Given the description of an element on the screen output the (x, y) to click on. 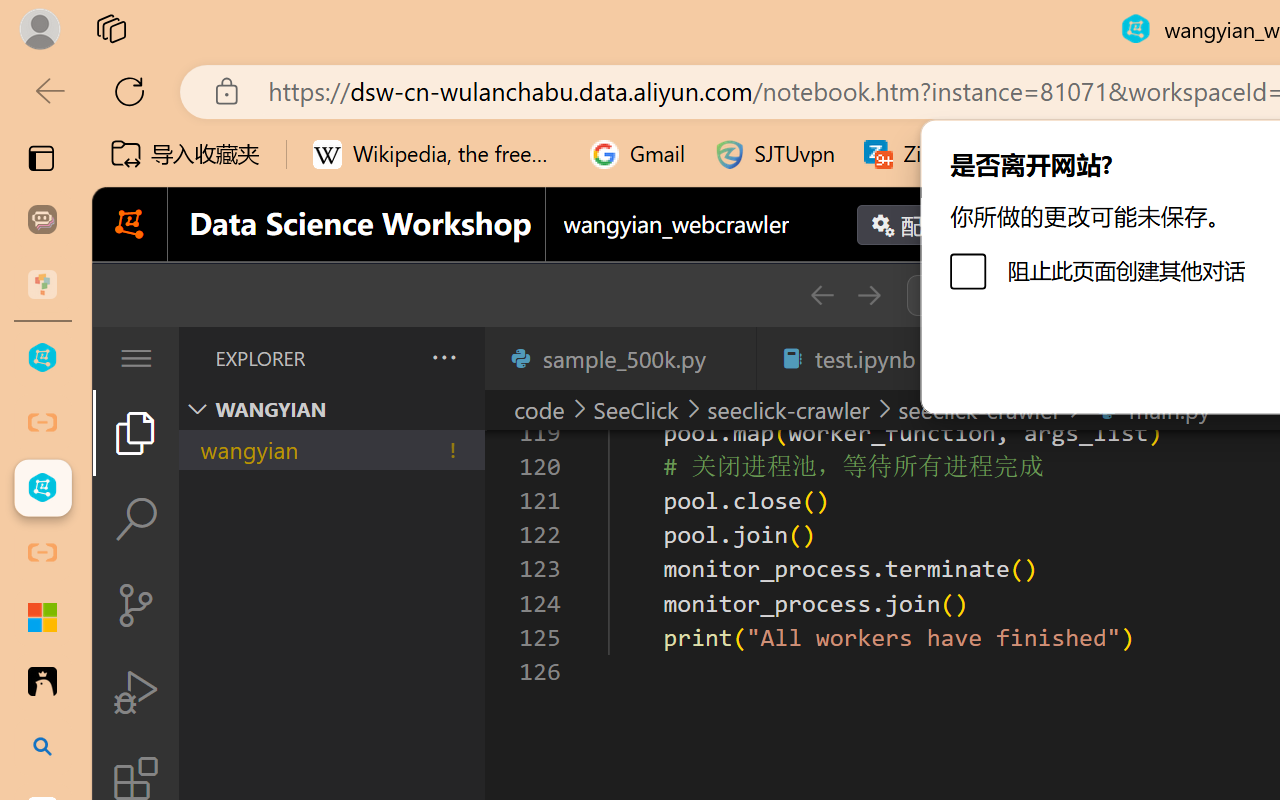
Source Control (Ctrl+Shift+G) (135, 604)
Explorer actions (391, 358)
Close (Ctrl+F4) (729, 358)
sample_500k.py (619, 358)
Class: menubar compact overflow-menu-only (135, 358)
